Given the description of an element on the screen output the (x, y) to click on. 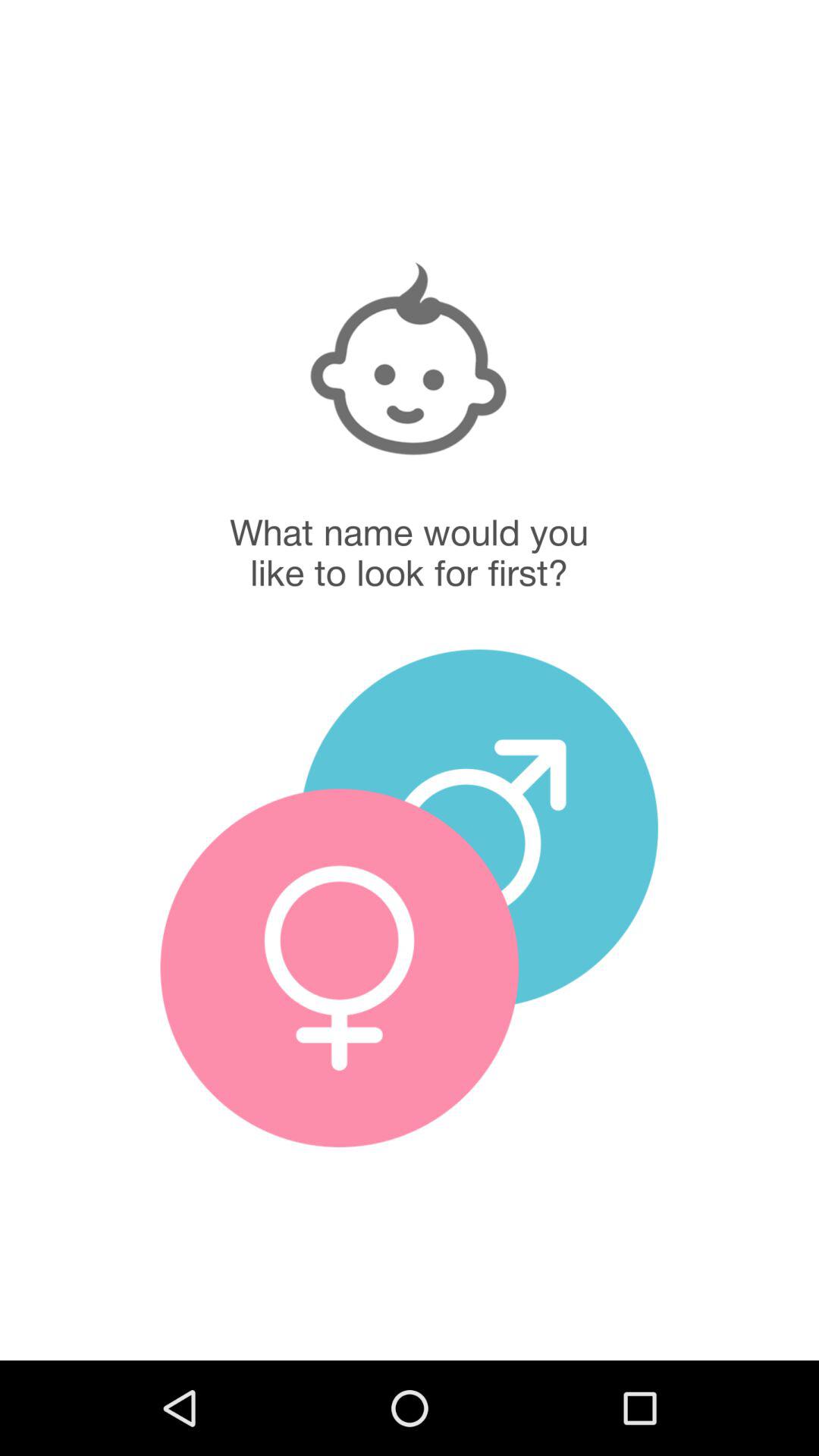
select male (478, 828)
